Given the description of an element on the screen output the (x, y) to click on. 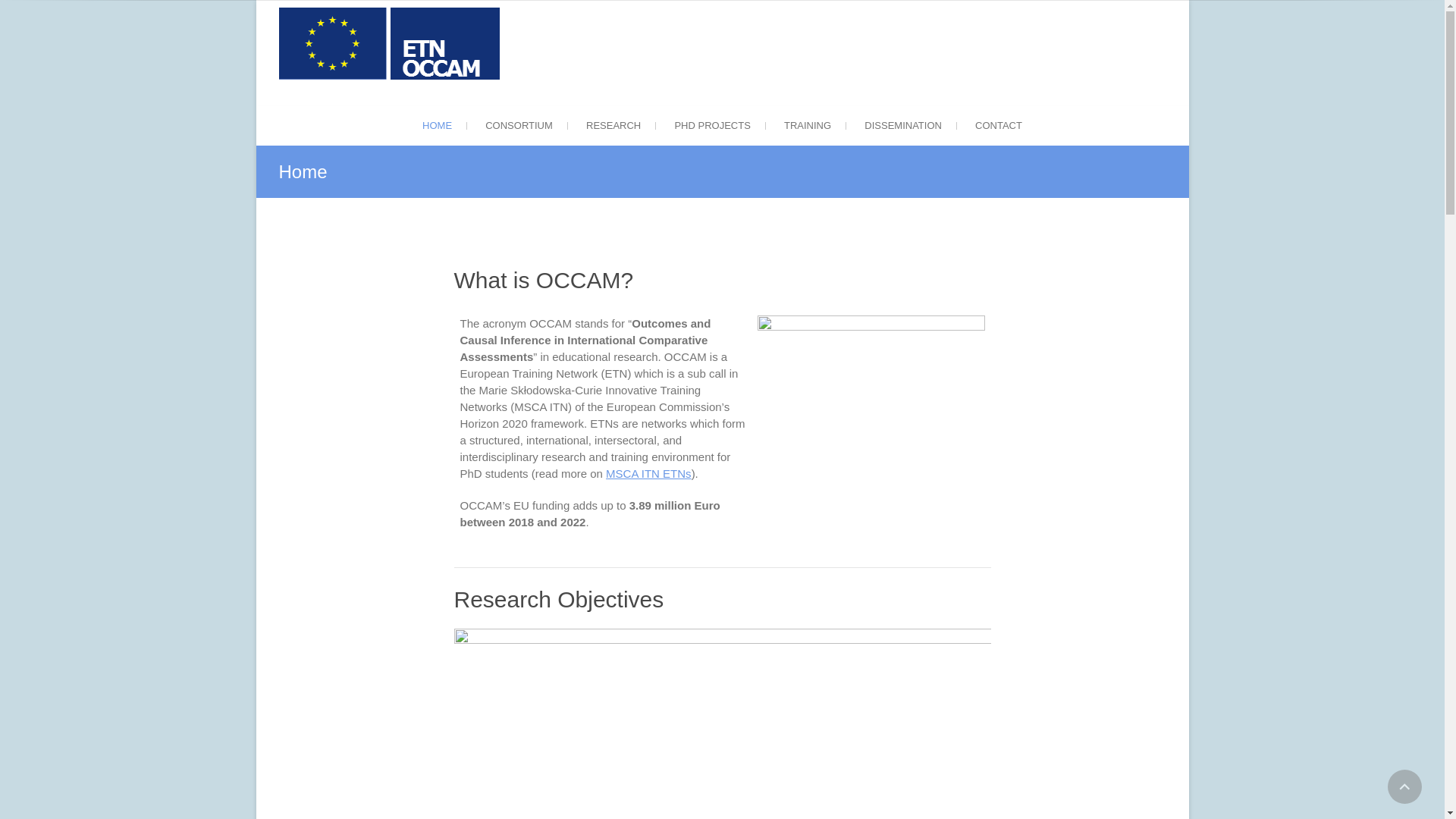
RESEARCH (613, 125)
MSCA ITN ETNs (648, 472)
PHD PROJECTS (712, 125)
CONTACT (997, 125)
Go to Top (1404, 786)
CONSORTIUM (518, 125)
OCCAM (545, 113)
HOME (437, 125)
DISSEMINATION (902, 125)
TRAINING (806, 125)
